Given the description of an element on the screen output the (x, y) to click on. 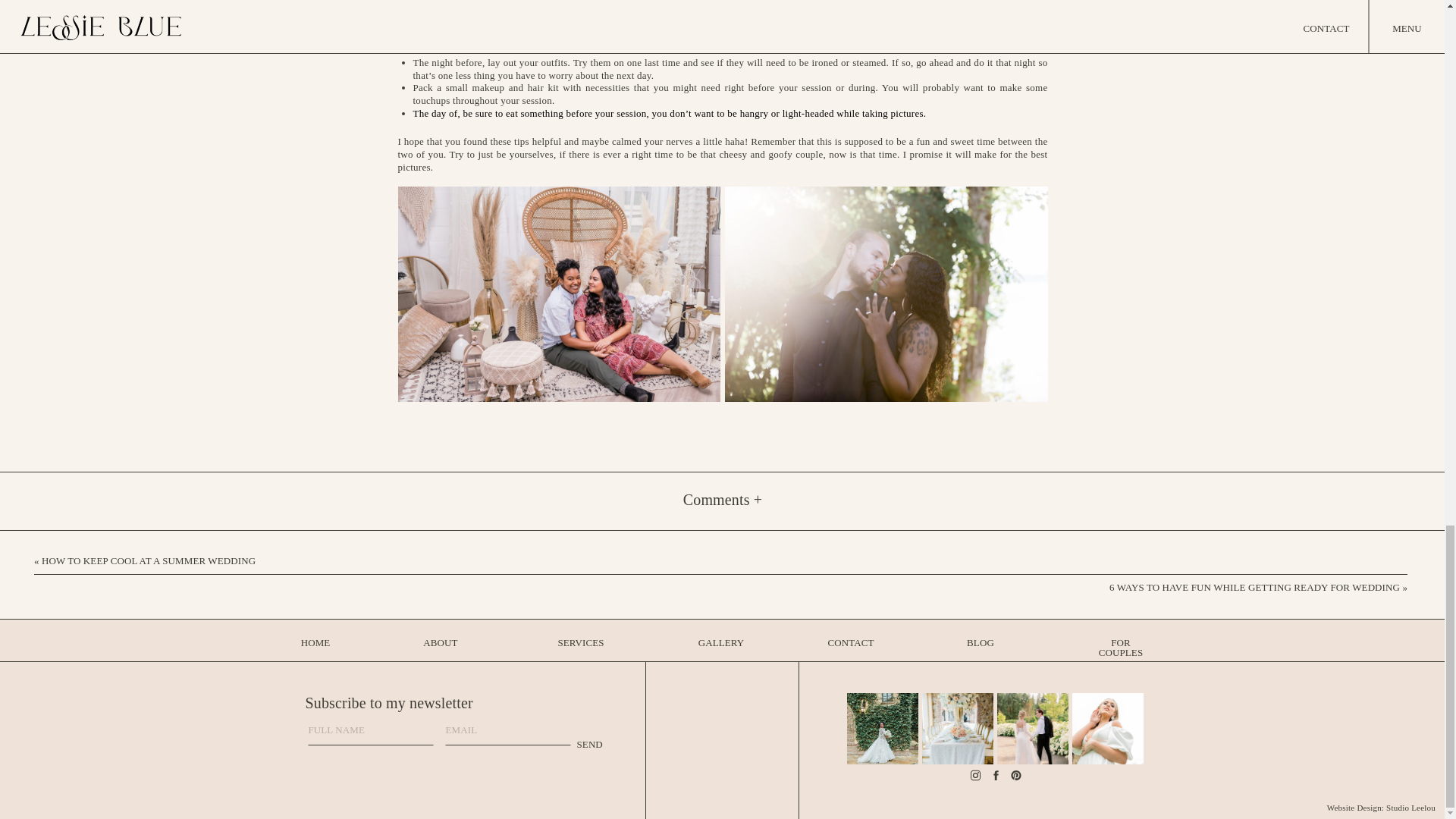
CONTACT (850, 647)
SERVICES (579, 647)
SEND (623, 748)
Subscribe to my newsletter (401, 701)
HOW TO KEEP COOL AT A SUMMER WEDDING (149, 560)
Website Design: Studio Leelou (1366, 805)
ABOUT (440, 647)
